Given the description of an element on the screen output the (x, y) to click on. 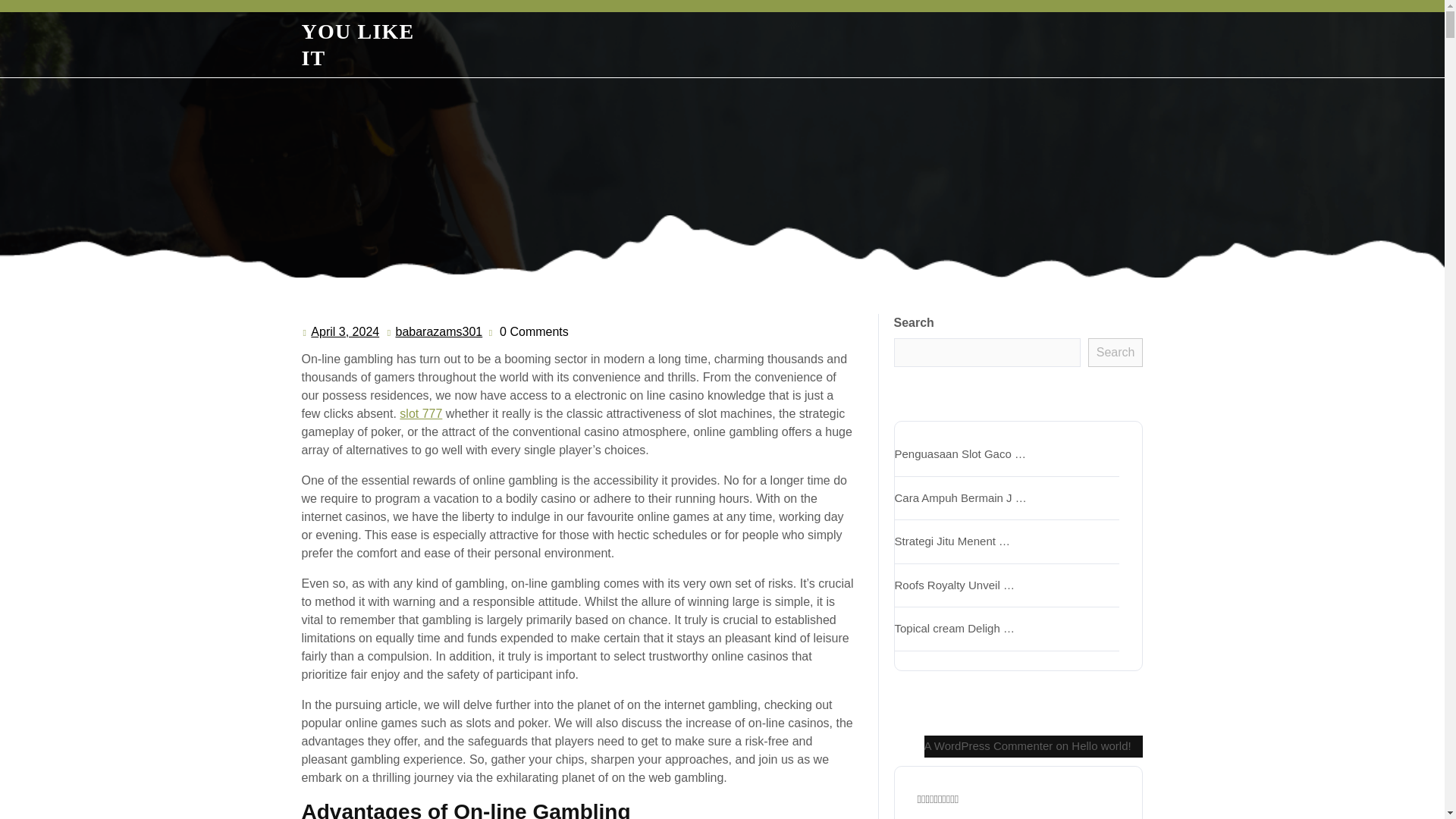
YOU LIKE IT (357, 44)
Search (438, 332)
Hello world! (1114, 352)
slot 777 (344, 332)
A WordPress Commenter (1101, 745)
YOU LIKE IT (420, 413)
